Given the description of an element on the screen output the (x, y) to click on. 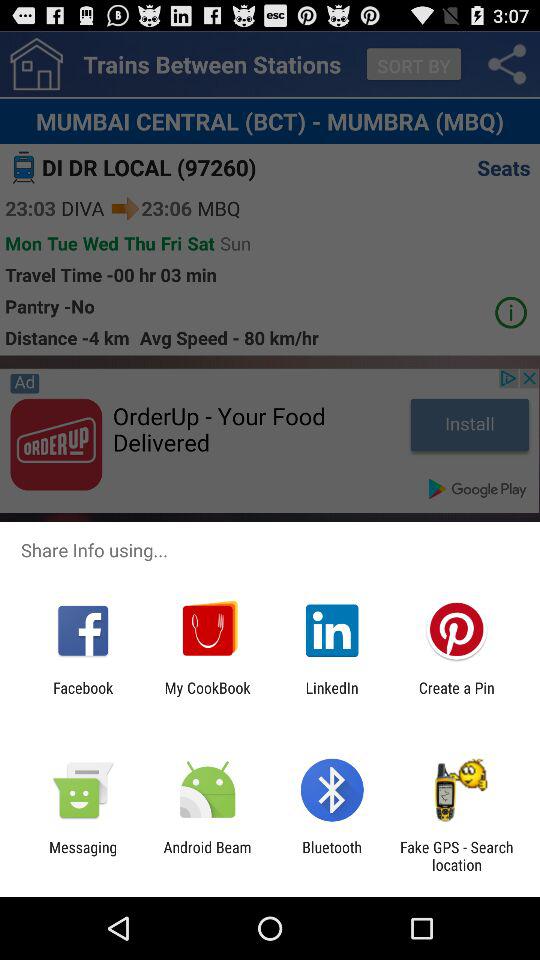
swipe until bluetooth (331, 856)
